Given the description of an element on the screen output the (x, y) to click on. 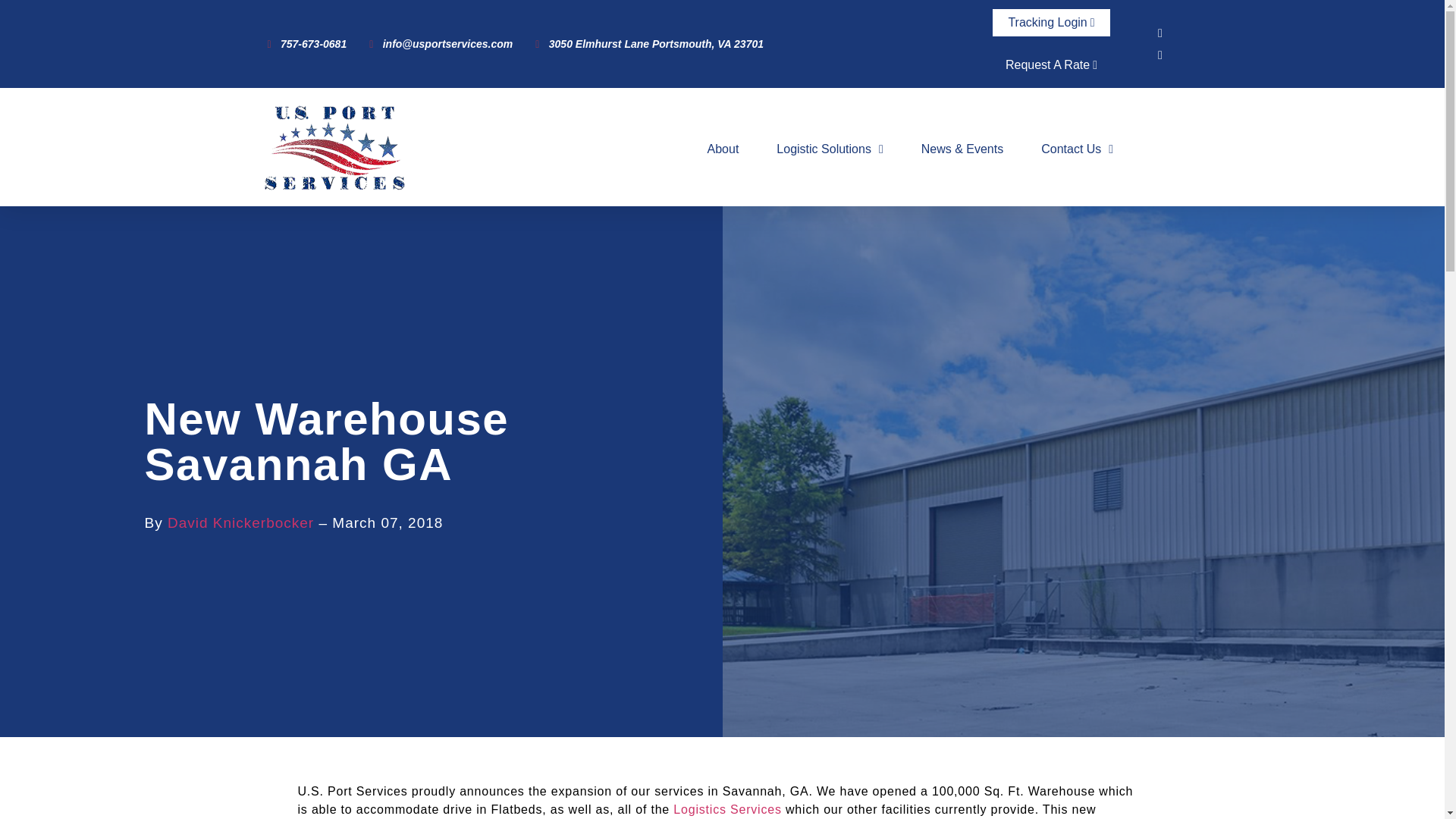
757-673-0681 (306, 44)
Logistic Solutions (829, 149)
Request A Rate (1051, 64)
Contact Us (1077, 149)
Tracking Login (1050, 22)
About (723, 149)
